Given the description of an element on the screen output the (x, y) to click on. 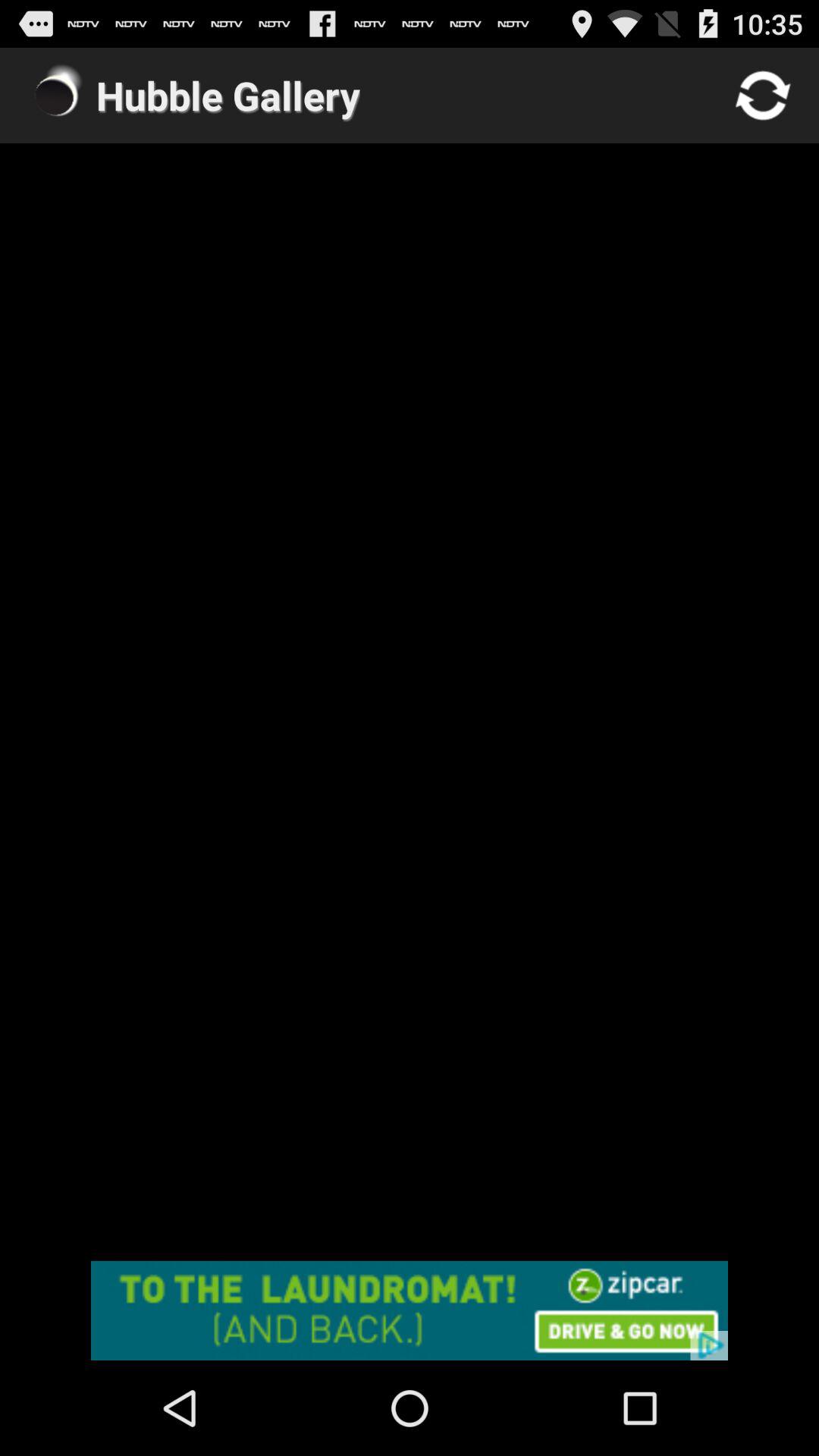
advertisement (409, 1310)
